Given the description of an element on the screen output the (x, y) to click on. 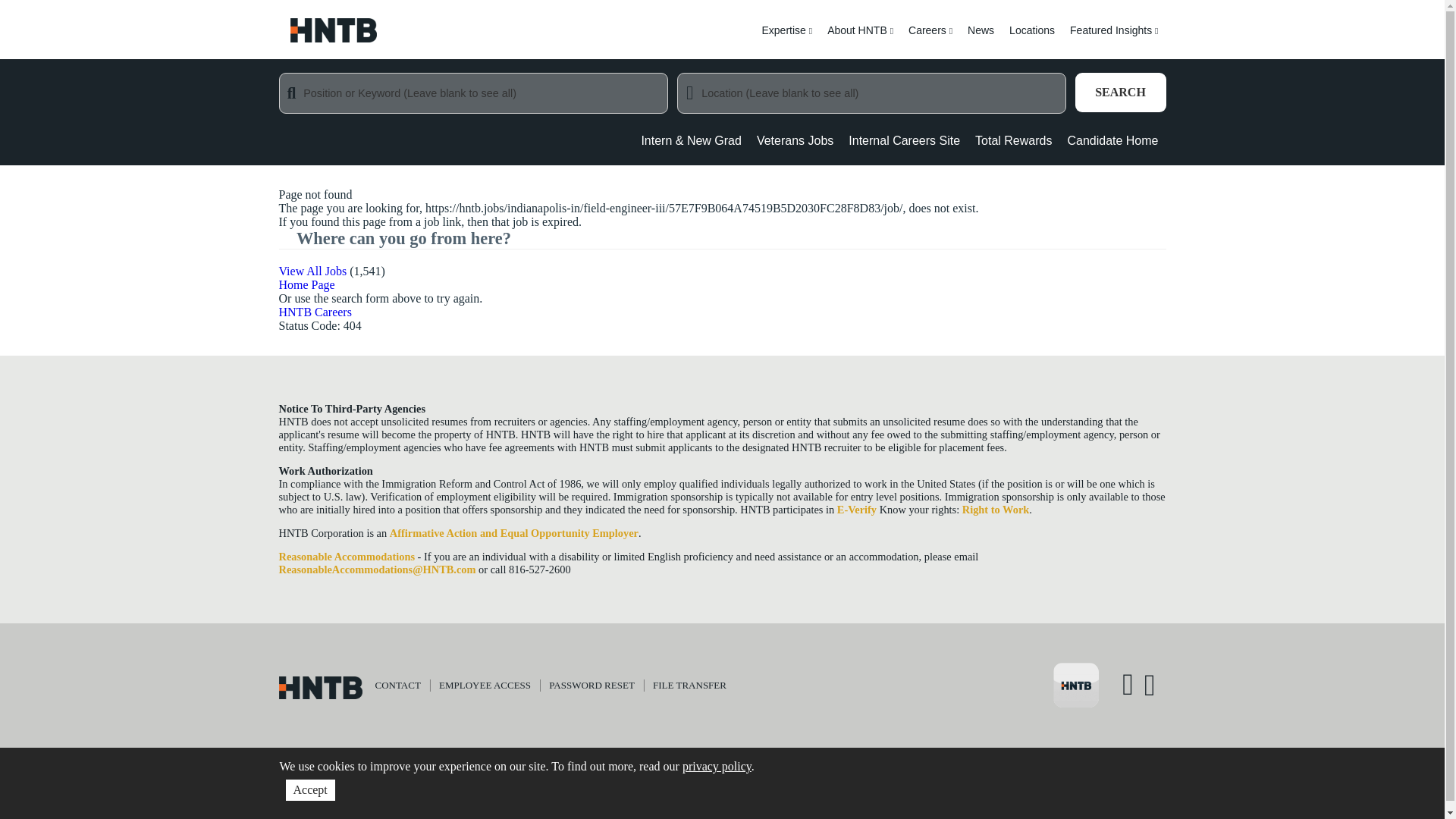
Accept (309, 789)
privacy policy (716, 766)
Featured Insights (1114, 39)
About HNTB (860, 39)
Expertise (786, 39)
News (980, 39)
Careers (930, 39)
Locations (1031, 39)
